Given the description of an element on the screen output the (x, y) to click on. 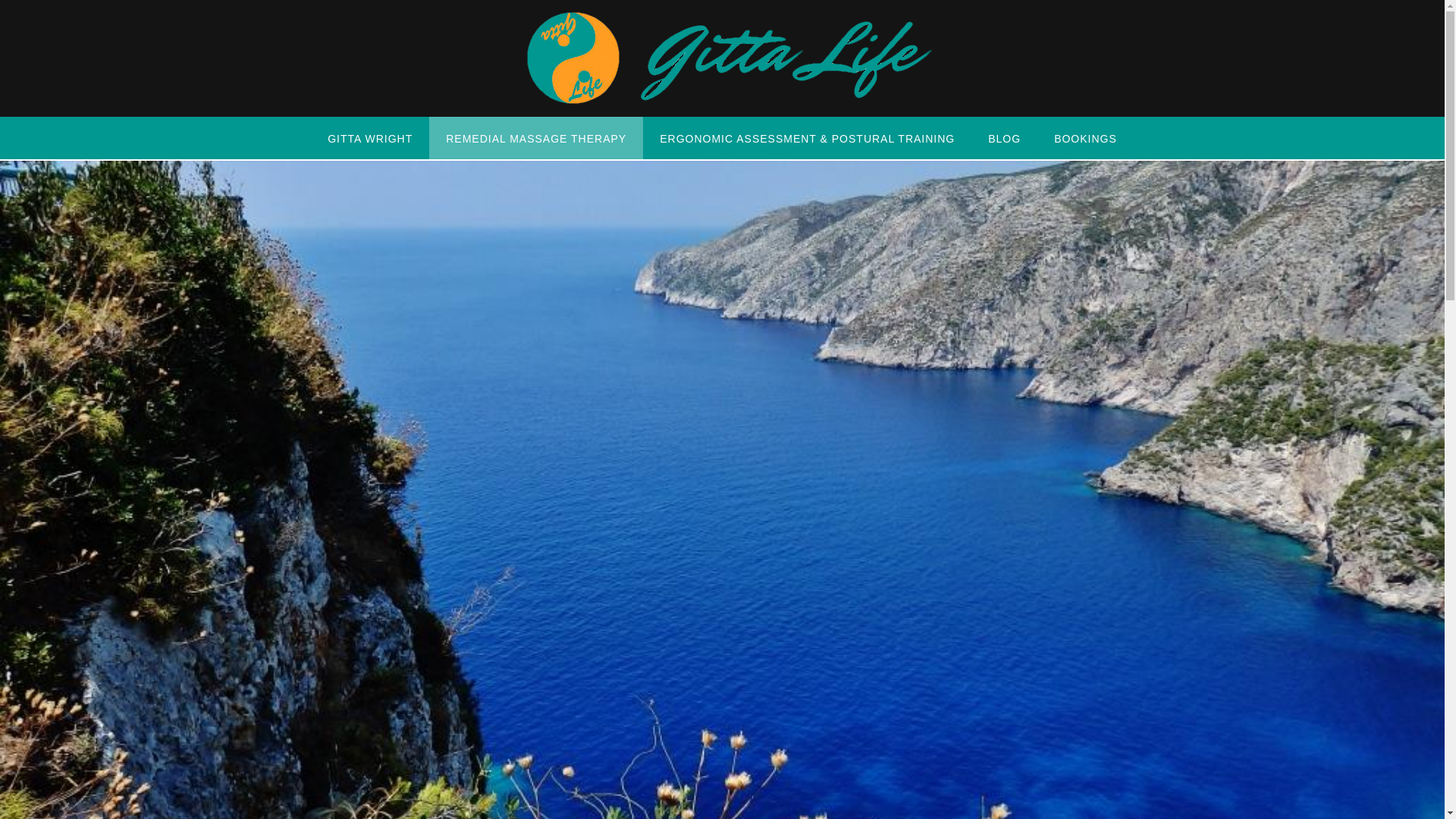
BOOKINGS Element type: text (1085, 137)
GITTA WRIGHT Element type: text (369, 137)
REMEDIAL MASSAGE THERAPY Element type: text (536, 137)
GittaLife Element type: hover (721, 58)
BLOG Element type: text (1004, 137)
ERGONOMIC ASSESSMENT & POSTURAL TRAINING Element type: text (807, 137)
